Given the description of an element on the screen output the (x, y) to click on. 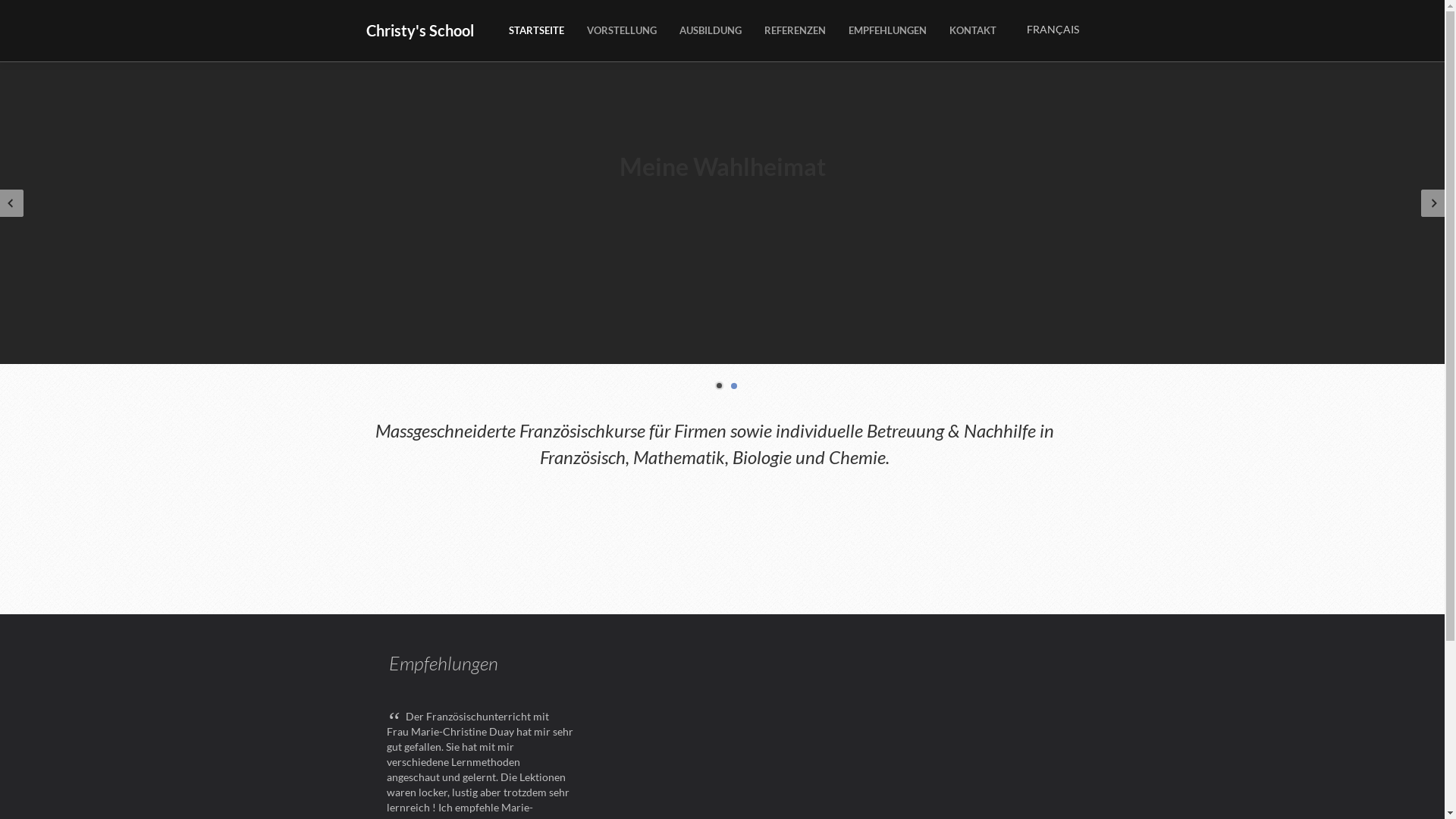
VORSTELLUNG Element type: text (620, 30)
Christy's School Element type: text (419, 30)
0 Element type: text (718, 385)
AUSBILDUNG Element type: text (709, 30)
KONTAKT Element type: text (972, 30)
STARTSEITE Element type: text (536, 30)
1 Element type: text (734, 385)
EMPFEHLUNGEN Element type: text (887, 30)
REFERENZEN Element type: text (794, 30)
